Given the description of an element on the screen output the (x, y) to click on. 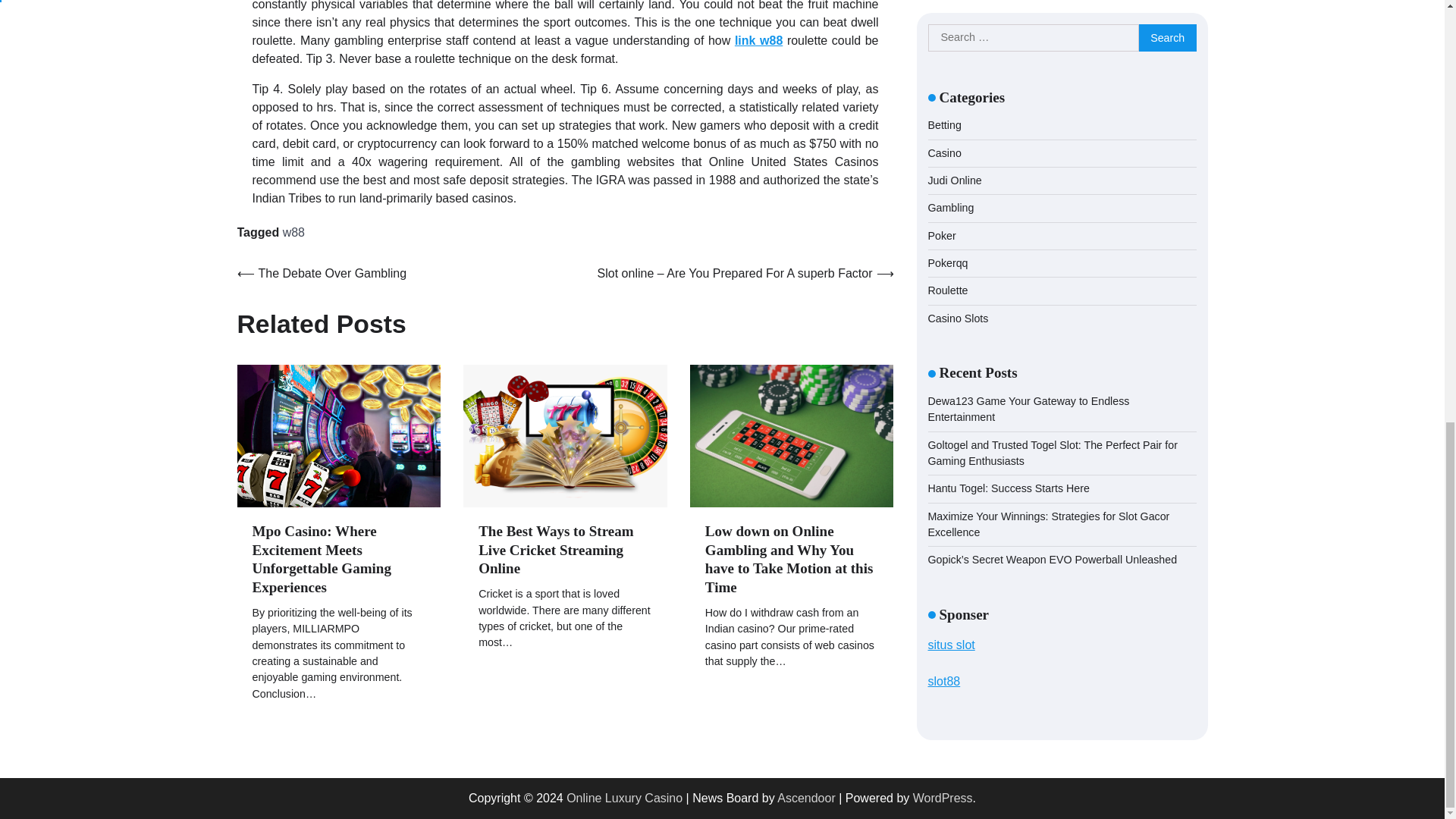
The Best Ways to Stream Live Cricket Streaming Online (556, 550)
link w88 (759, 40)
w88 (293, 232)
